Given the description of an element on the screen output the (x, y) to click on. 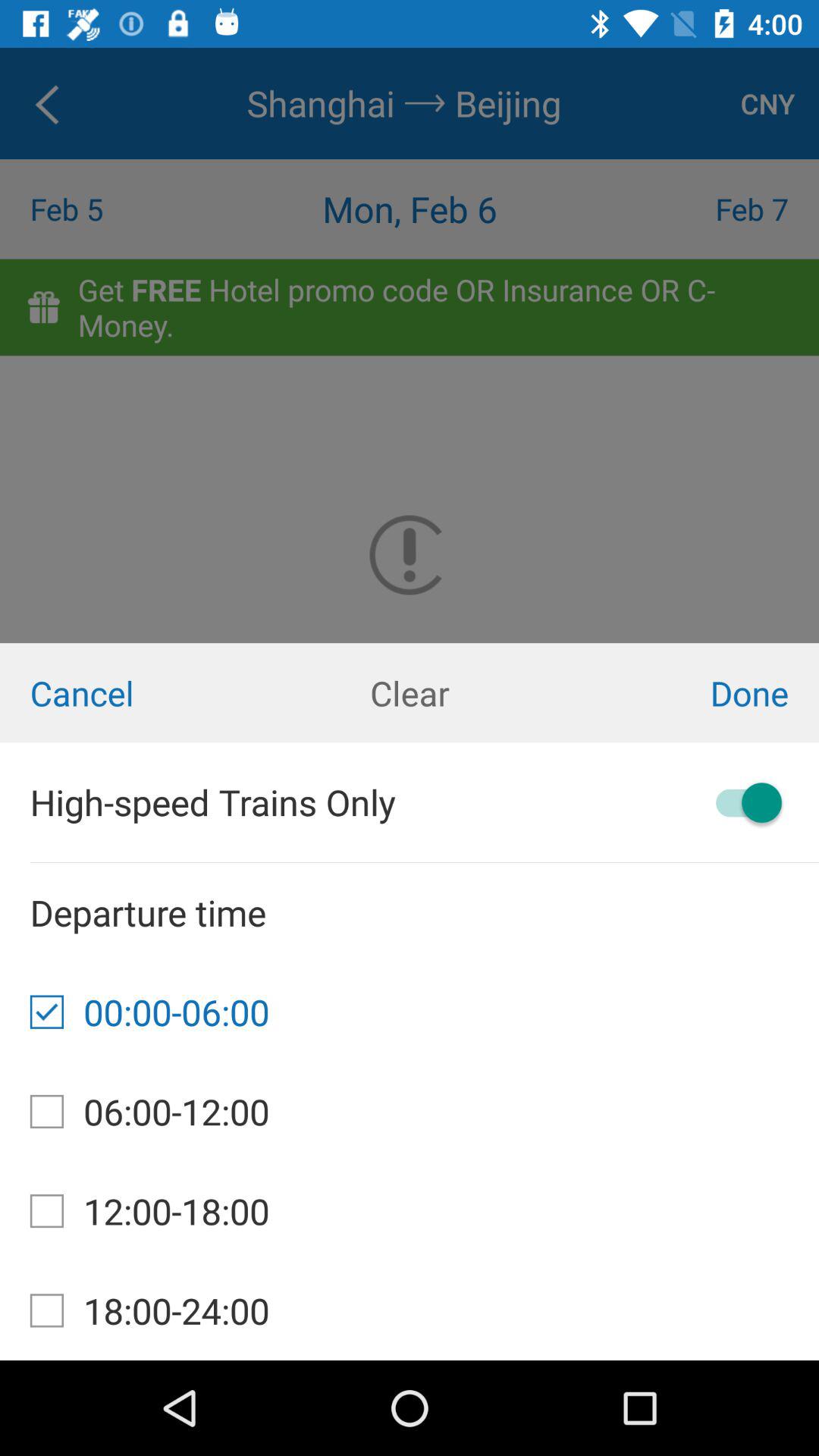
choose the item above the high speed trains item (136, 692)
